Given the description of an element on the screen output the (x, y) to click on. 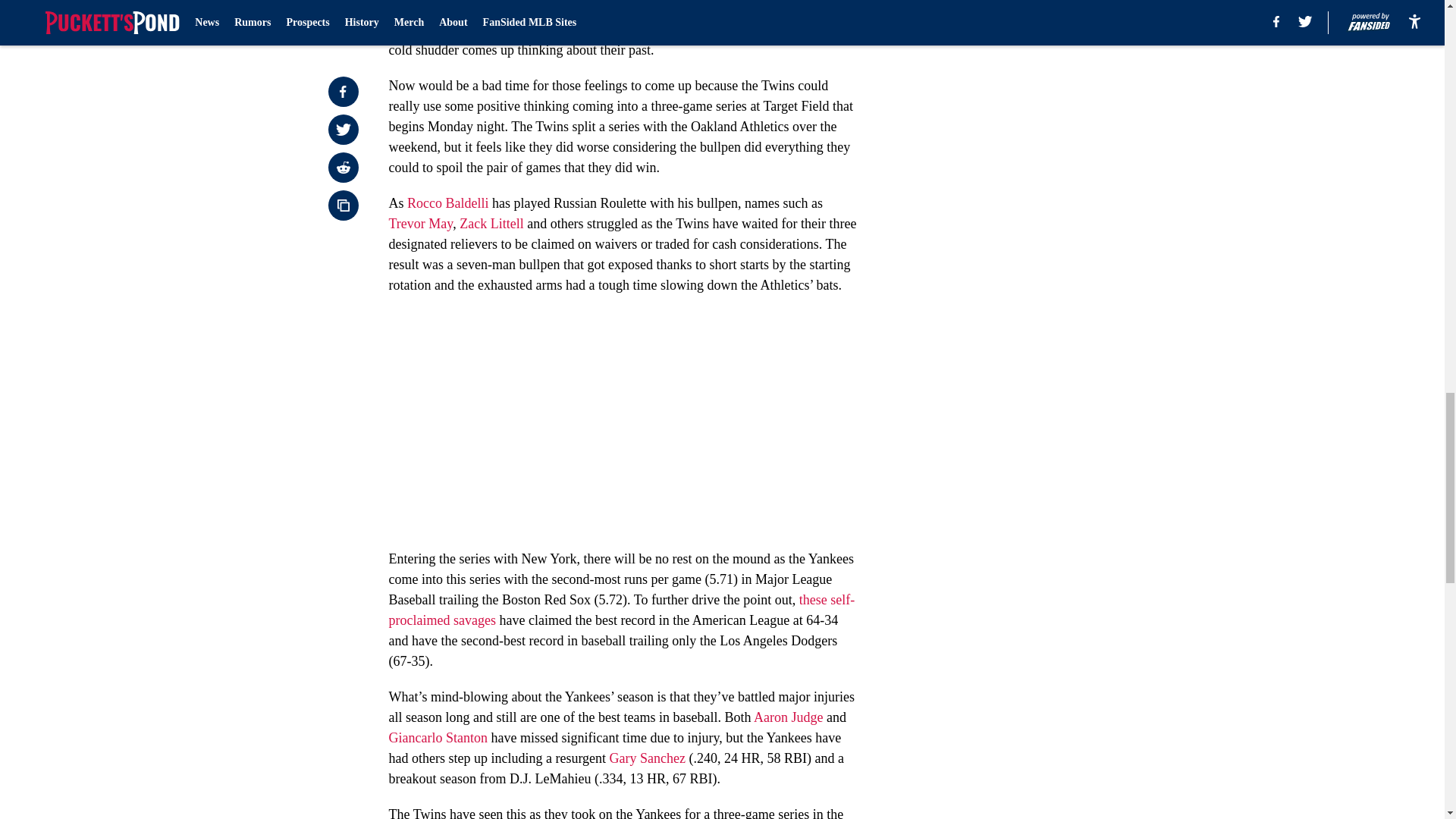
Gary Sanchez (647, 758)
Aaron Judge (788, 717)
these self-proclaimed savages  (621, 610)
Joe Mauer (745, 8)
Justin Morneau (610, 18)
Trevor May (420, 223)
Torii Hunter (677, 8)
Zack Littell (491, 223)
Rocco Baldelli (447, 202)
Giancarlo Stanton (437, 737)
